Given the description of an element on the screen output the (x, y) to click on. 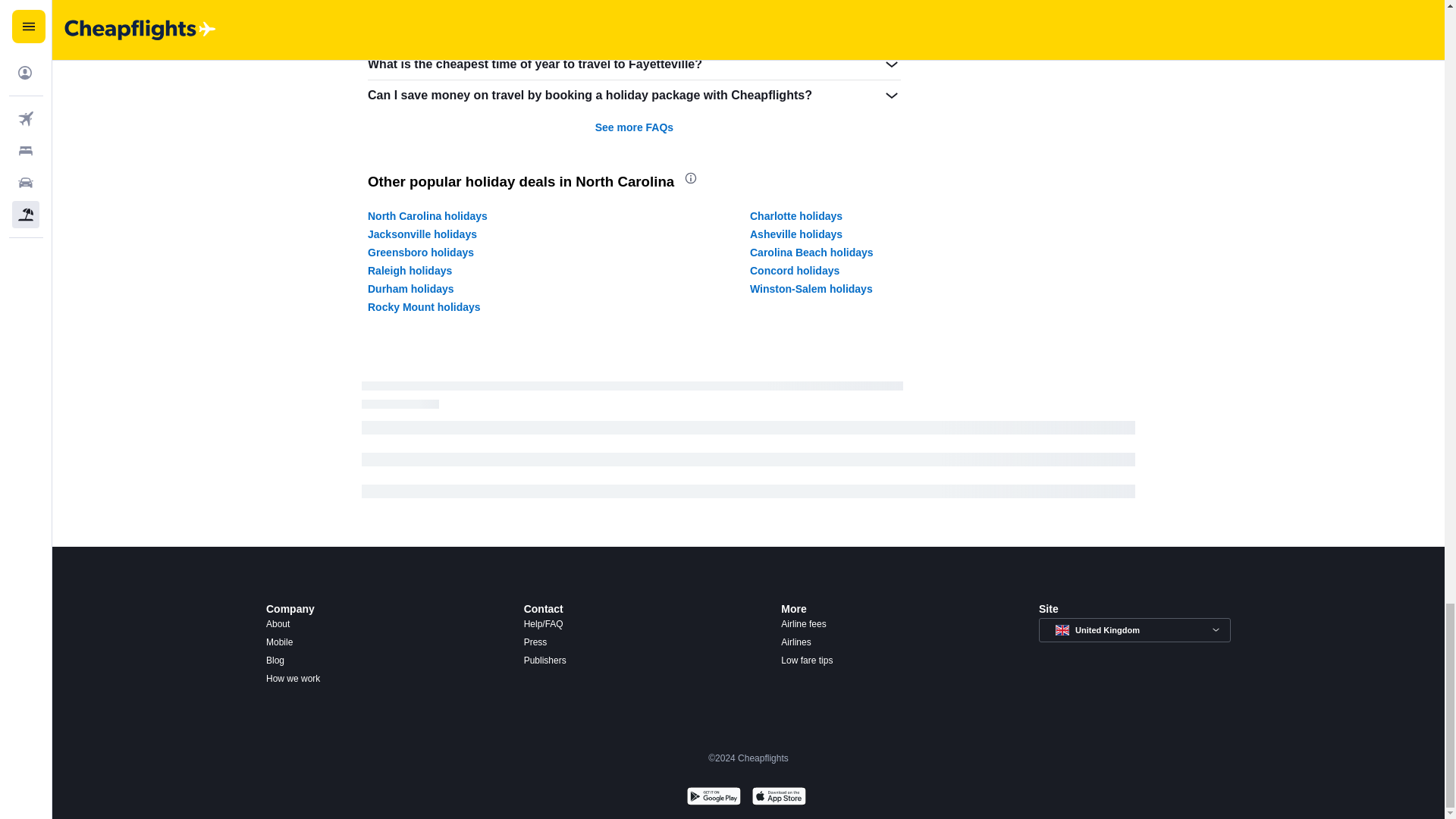
Asheville holidays (796, 234)
Charlotte holidays (796, 215)
Raleigh holidays (409, 270)
Greensboro holidays (421, 252)
Get it on Google Play (713, 797)
Winston-Salem holidays (810, 288)
North Carolina holidays (427, 215)
Concord holidays (794, 270)
Rocky Mount holidays (424, 306)
Carolina Beach holidays (811, 252)
